Given the description of an element on the screen output the (x, y) to click on. 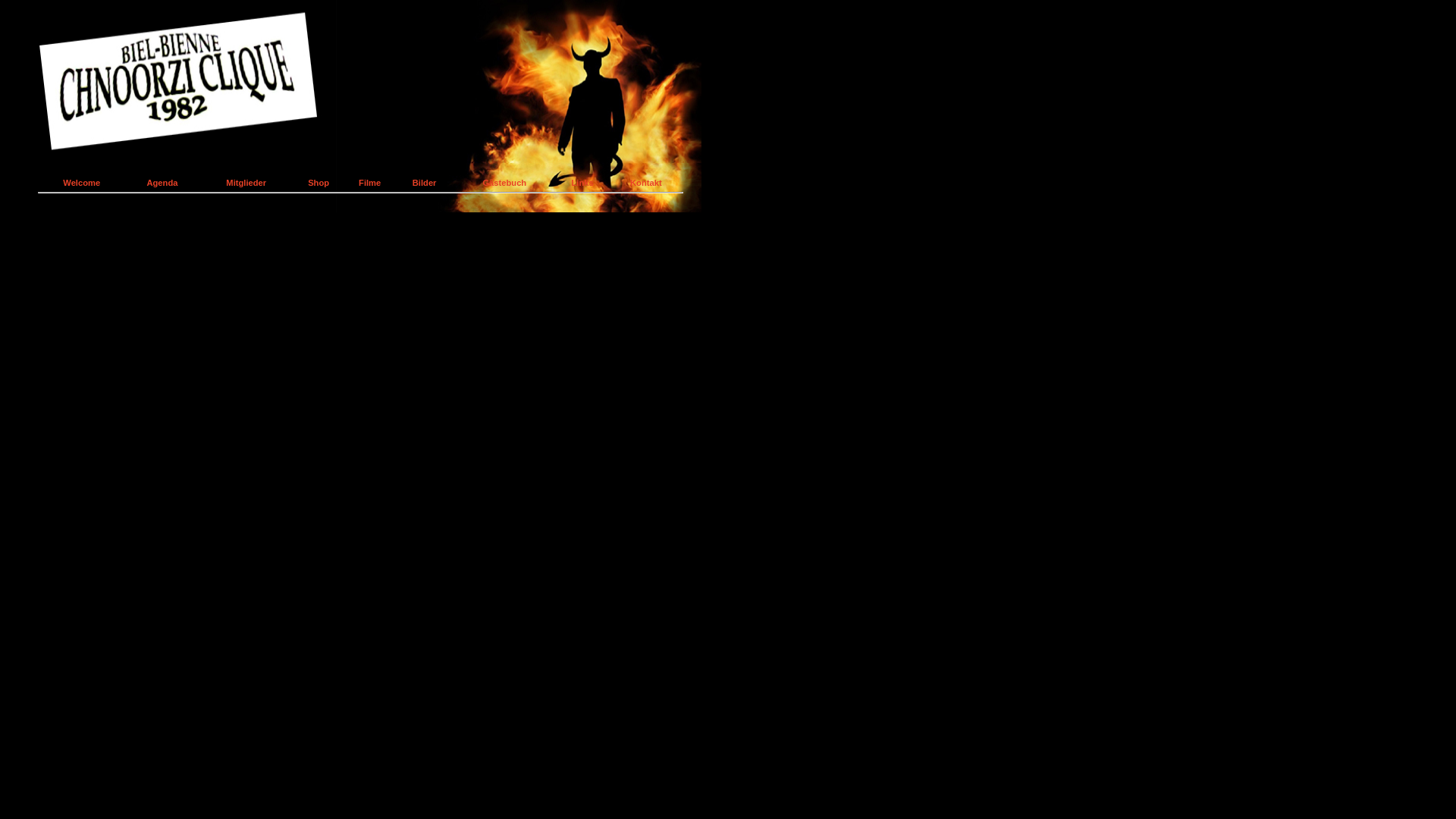
Mitglieder Element type: text (245, 182)
Bilder Element type: text (424, 182)
Filme Element type: text (369, 182)
Kontakt Element type: text (646, 182)
Welcome Element type: text (81, 182)
Agenda Element type: text (161, 182)
Links Element type: text (582, 182)
Shop Element type: text (318, 182)
